Given the description of an element on the screen output the (x, y) to click on. 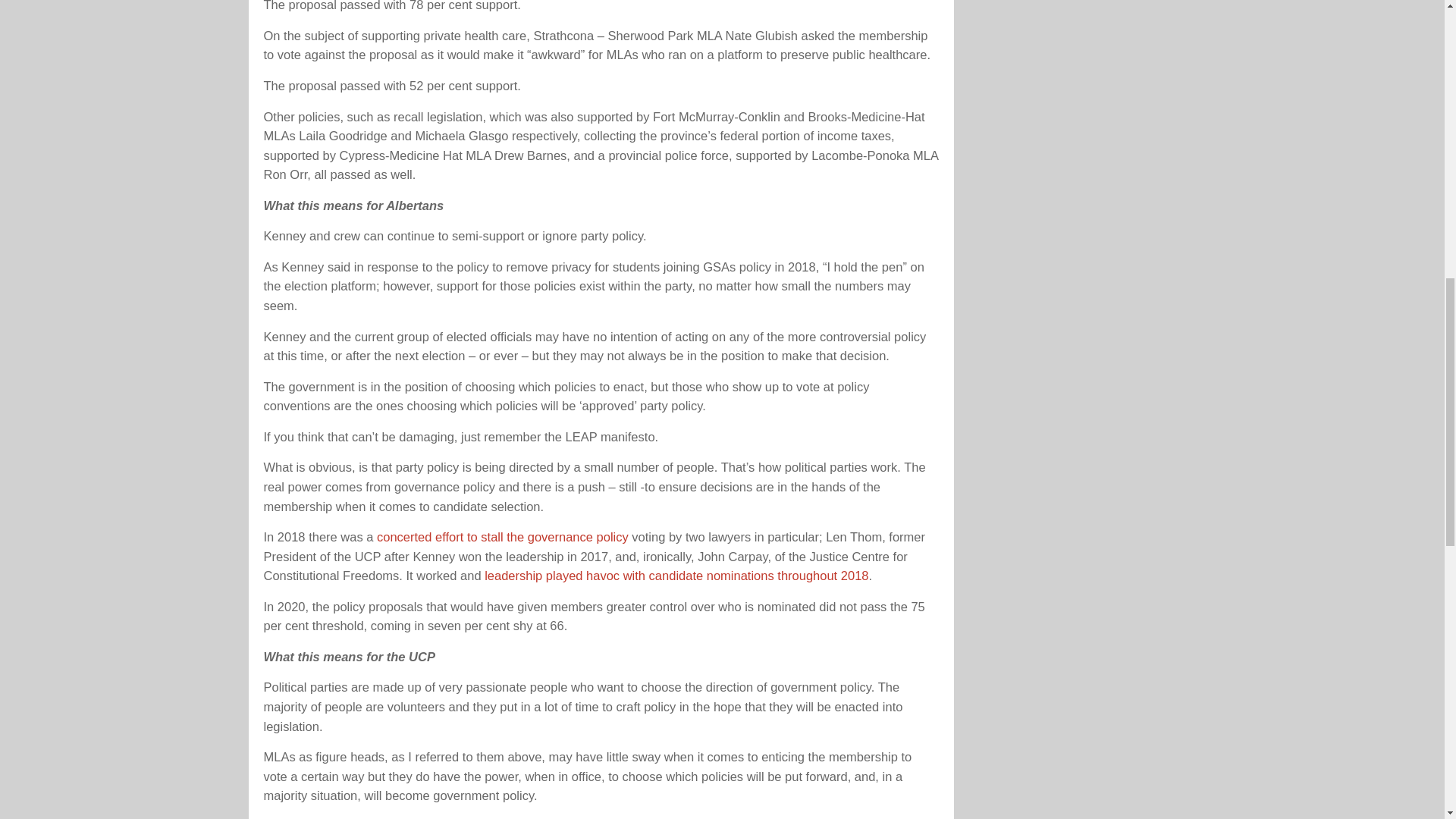
concerted effort to stall the governance policy (502, 536)
